Given the description of an element on the screen output the (x, y) to click on. 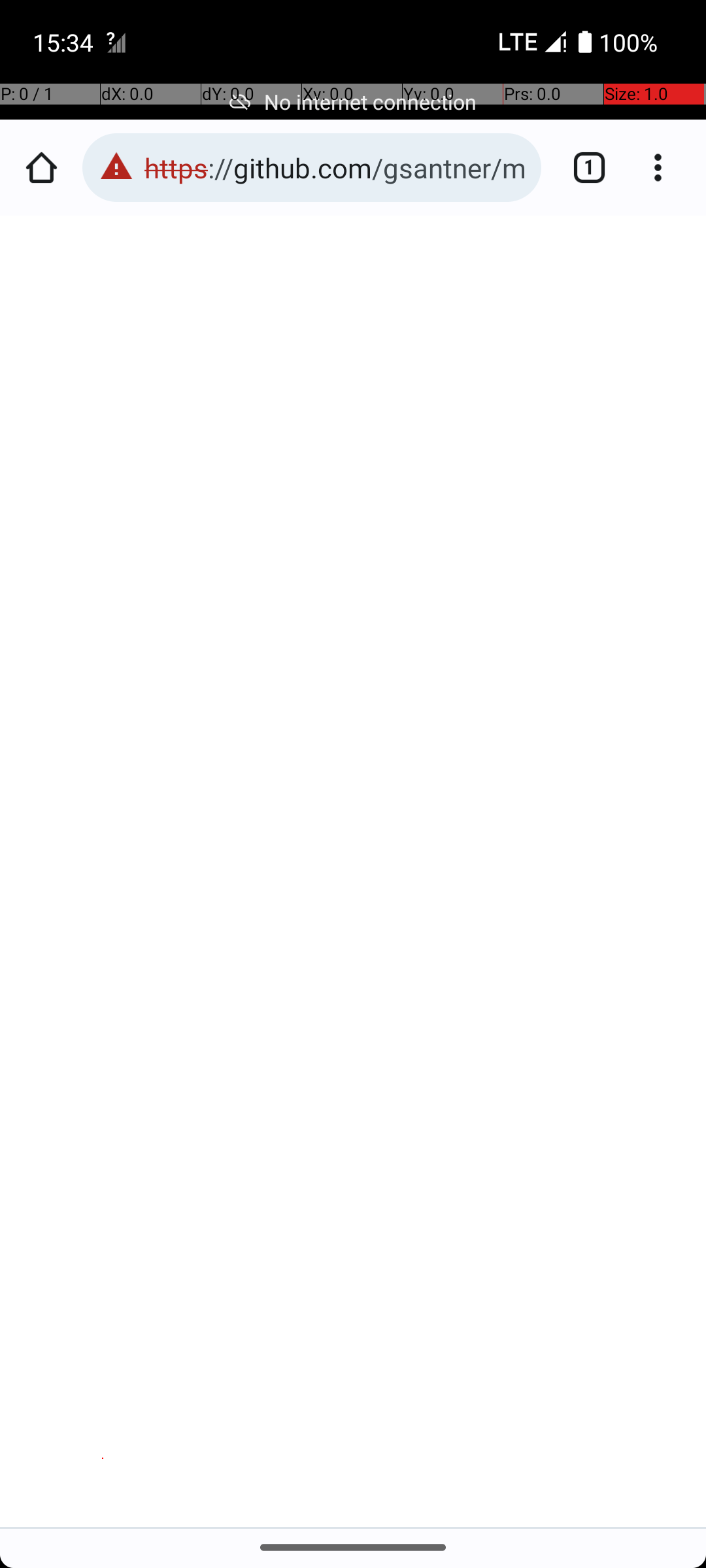
https://github.com/gsantner/markor#readme Element type: android.widget.EditText (335, 167)
